Given the description of an element on the screen output the (x, y) to click on. 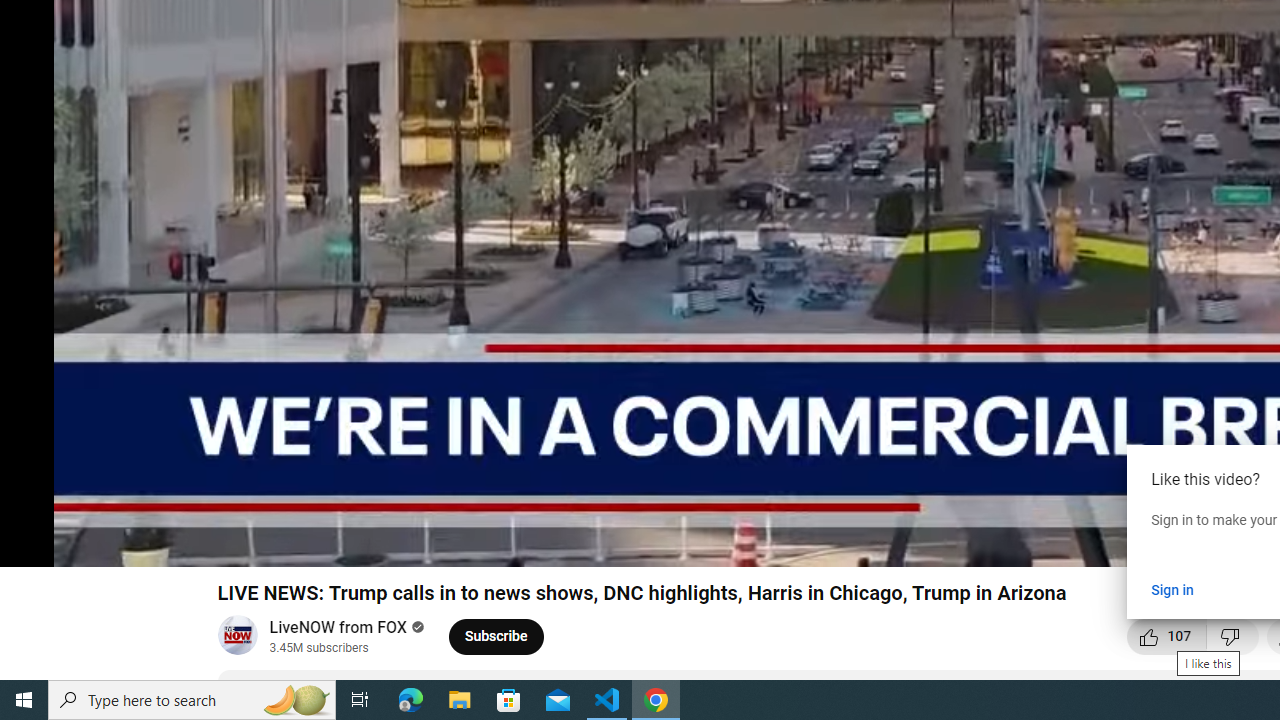
LiveNOW from FOX (338, 627)
Mute (m) (129, 543)
Next (SHIFT+n) (81, 543)
Play (k) (34, 543)
Dislike this video (1233, 636)
Verified (414, 626)
Subscribe to LiveNOW from FOX. (496, 636)
Skip ahead to live broadcast. (179, 543)
like this video along with 107 other people (1167, 636)
